Given the description of an element on the screen output the (x, y) to click on. 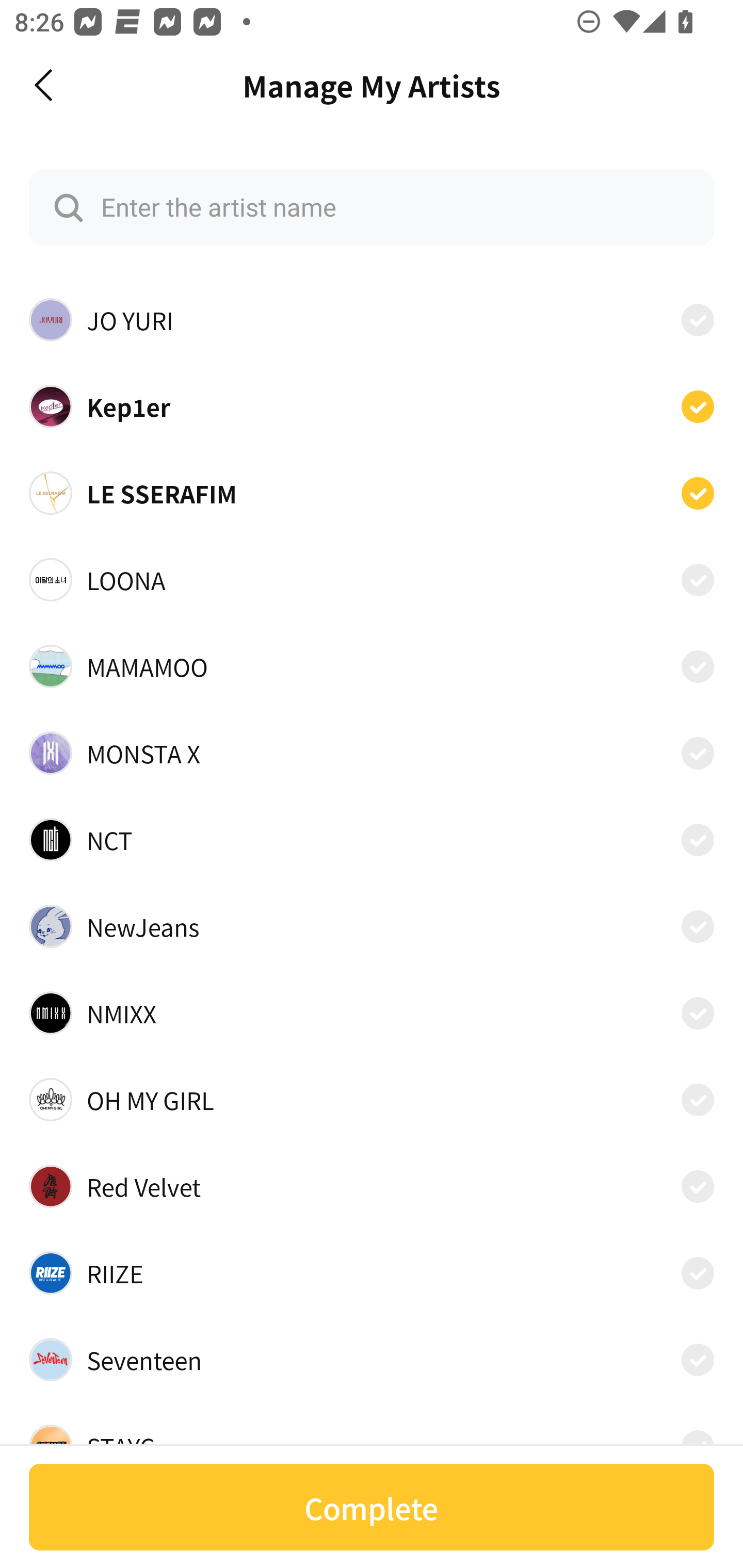
Enter the artist name (371, 207)
JO YURI (371, 319)
Kep1er (371, 406)
LE SSERAFIM (371, 492)
LOONA (371, 580)
MAMAMOO (371, 666)
MONSTA X (371, 752)
NCT (371, 839)
NewJeans (371, 926)
NMIXX (371, 1012)
OH MY GIRL (371, 1099)
Red Velvet (371, 1186)
RIIZE (371, 1273)
Seventeen (371, 1359)
Complete (371, 1507)
